Given the description of an element on the screen output the (x, y) to click on. 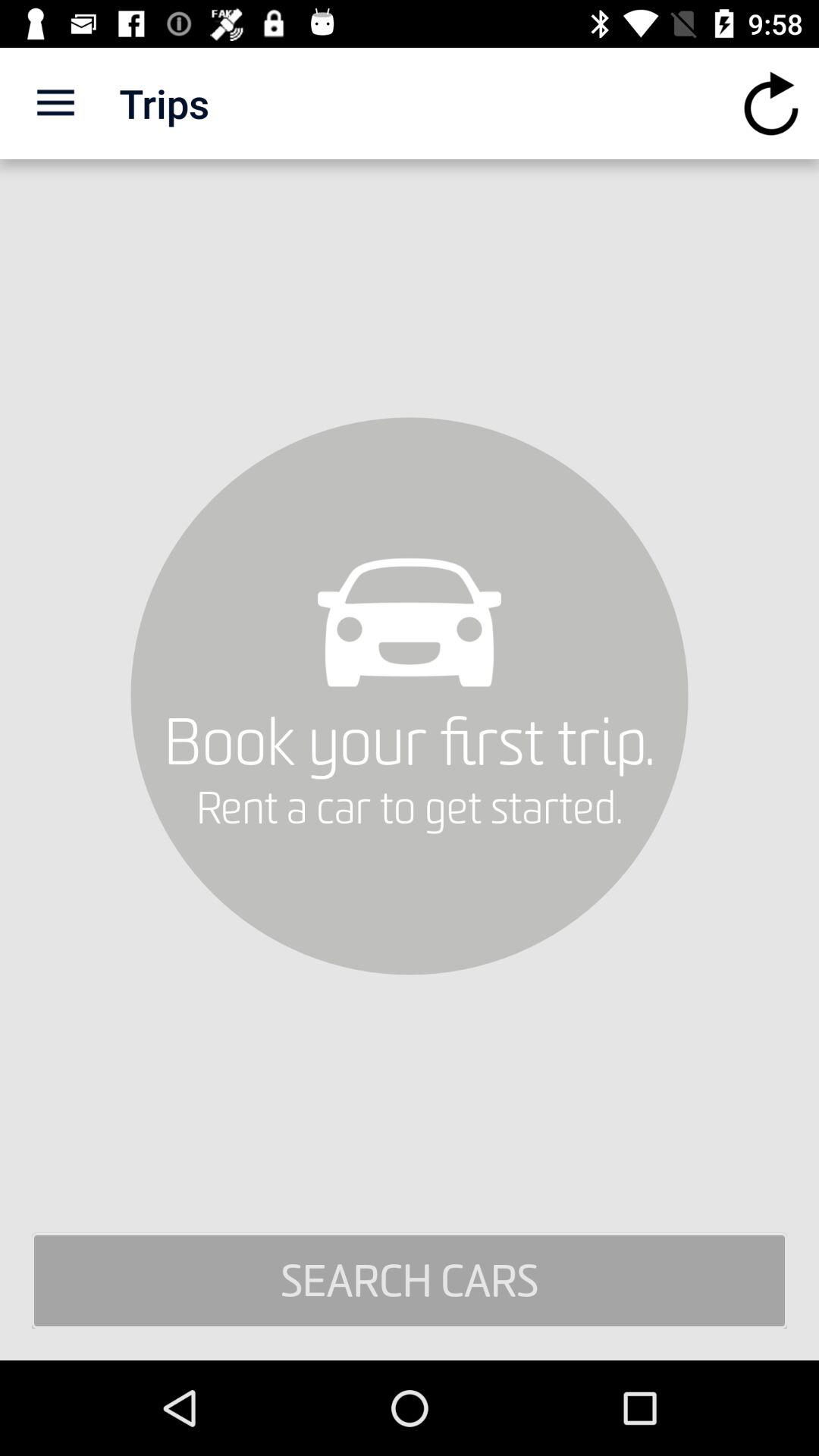
turn off icon above search cars icon (55, 103)
